Given the description of an element on the screen output the (x, y) to click on. 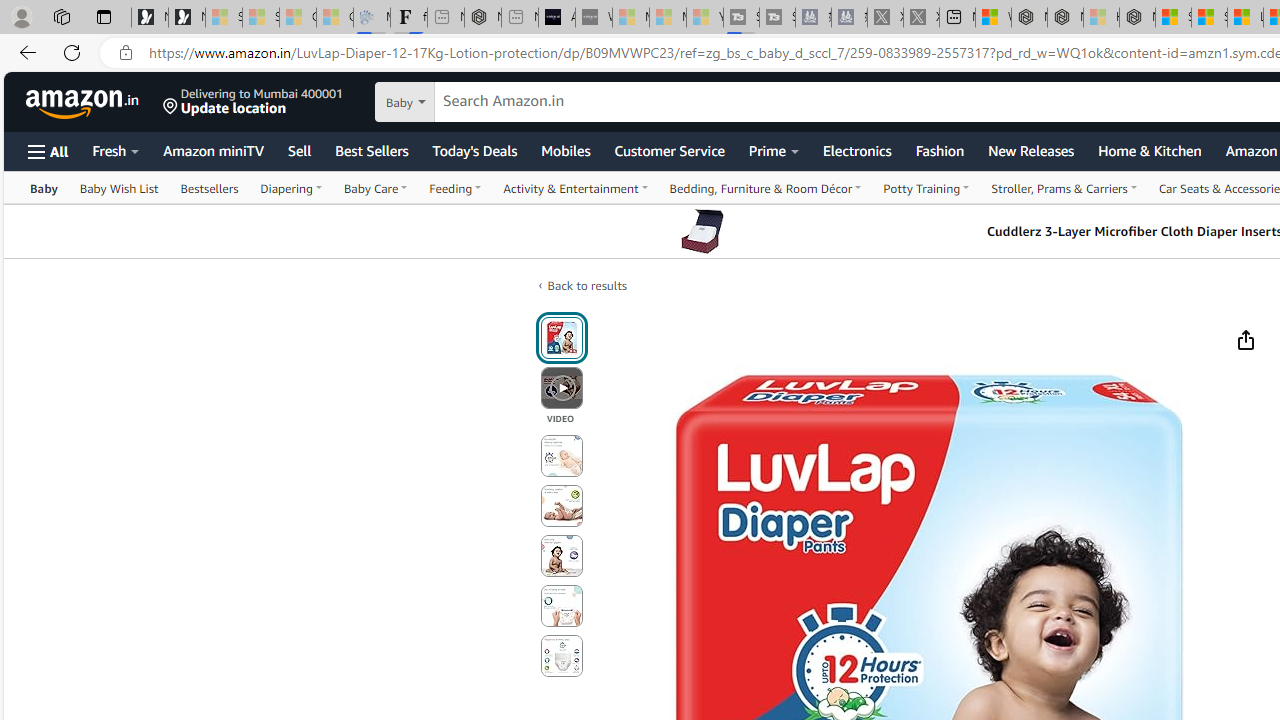
Microsoft Start - Sleeping (668, 17)
Wildlife - MSN (993, 17)
New tab - Sleeping (519, 17)
Streaming Coverage | T3 - Sleeping (741, 17)
Microsoft Start Sports - Sleeping (630, 17)
Newsletter Sign Up (186, 17)
Nordace - #1 Japanese Best-Seller - Siena Smart Backpack (482, 17)
